Given the description of an element on the screen output the (x, y) to click on. 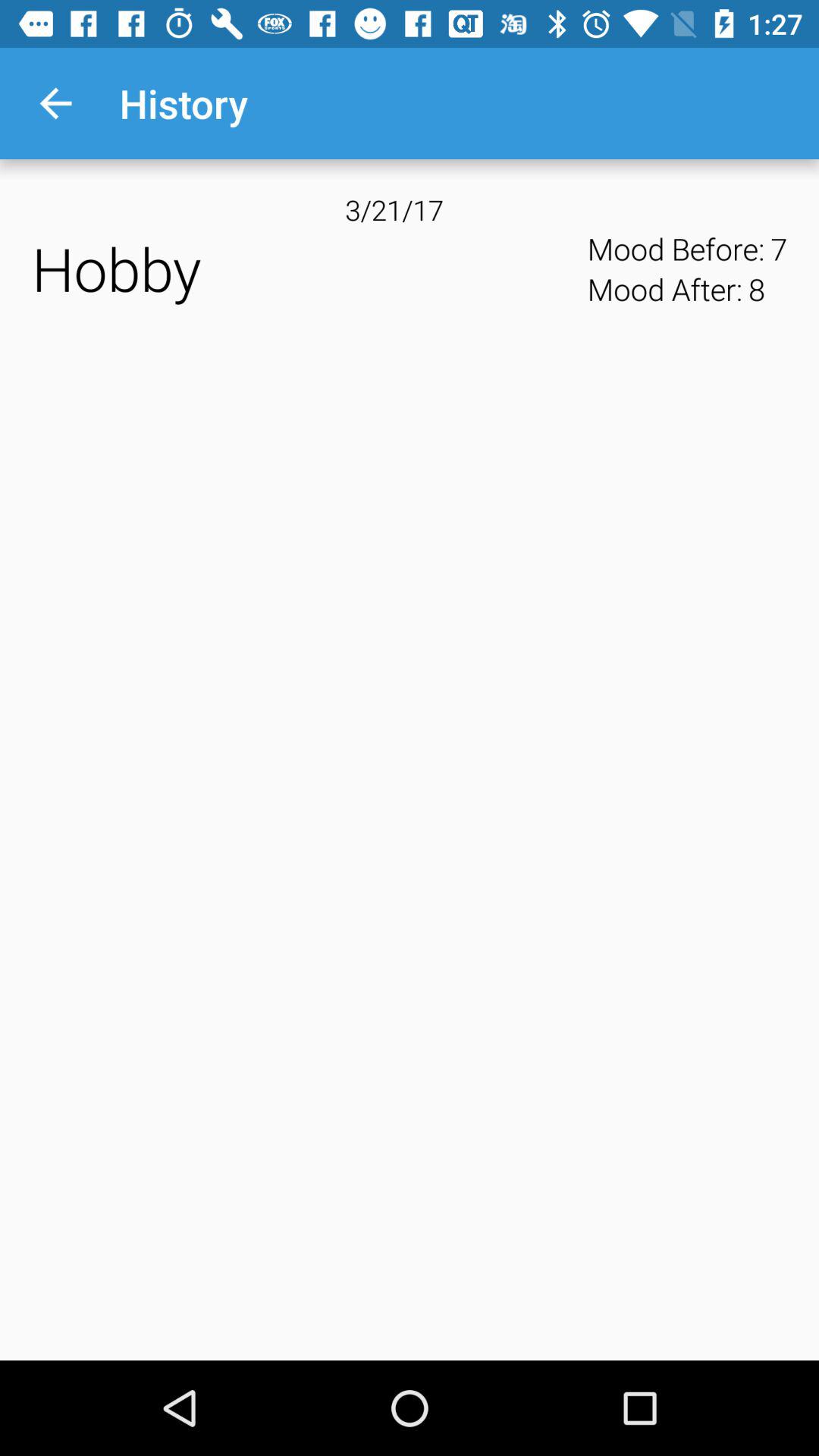
choose item below mood before: item (756, 289)
